Given the description of an element on the screen output the (x, y) to click on. 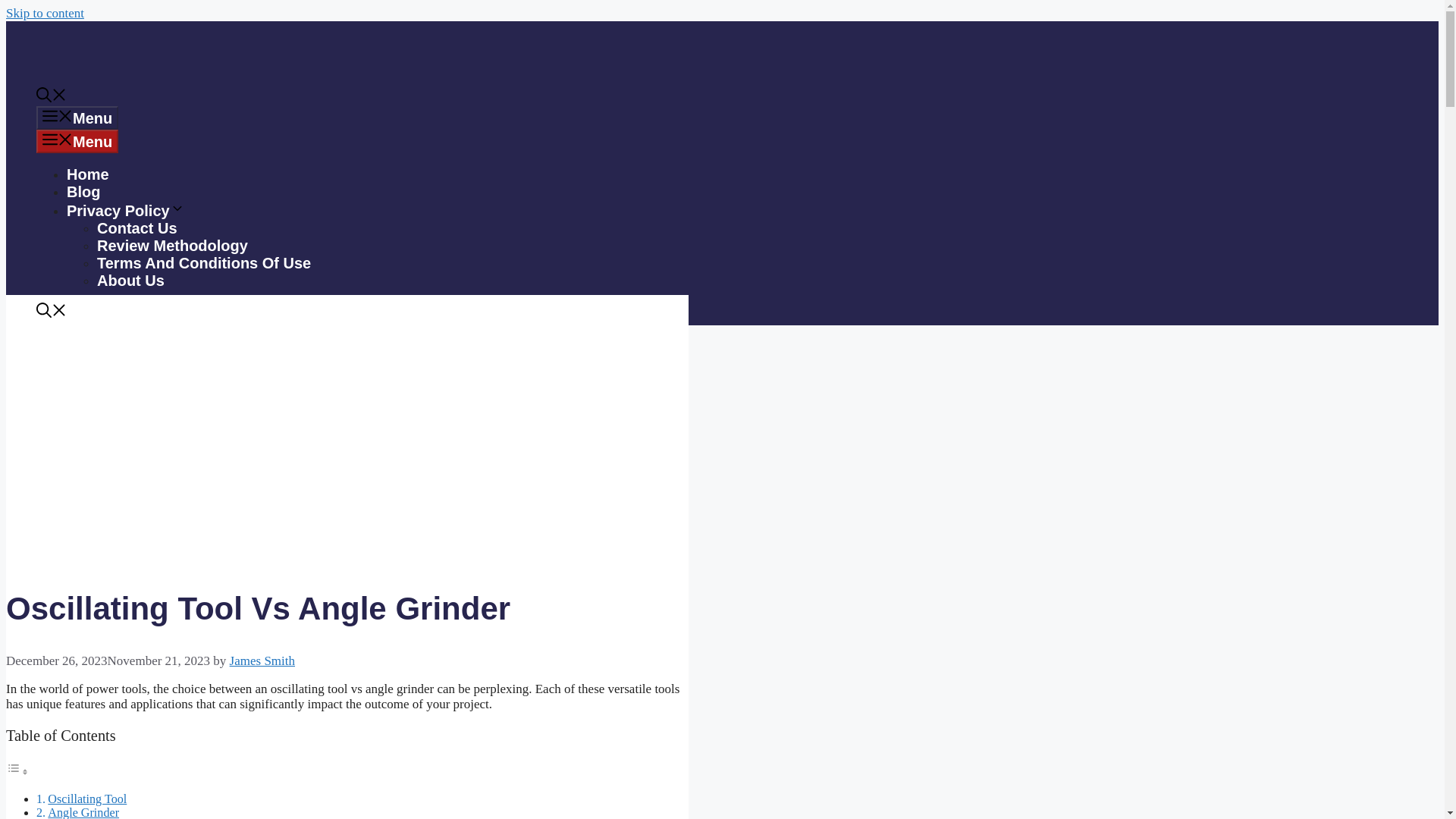
Oscillating Tool (87, 797)
Terms And Conditions Of Use (204, 262)
Menu (76, 141)
View all posts by James Smith (262, 660)
Angle Grinder (83, 811)
Menu (76, 117)
Skip to content (44, 12)
Contact Us (137, 228)
James Smith (262, 660)
Angle Grinder (83, 811)
Home (87, 174)
Skip to content (44, 12)
Review Methodology (172, 245)
Oscillating Tool (87, 797)
About Us (130, 280)
